Given the description of an element on the screen output the (x, y) to click on. 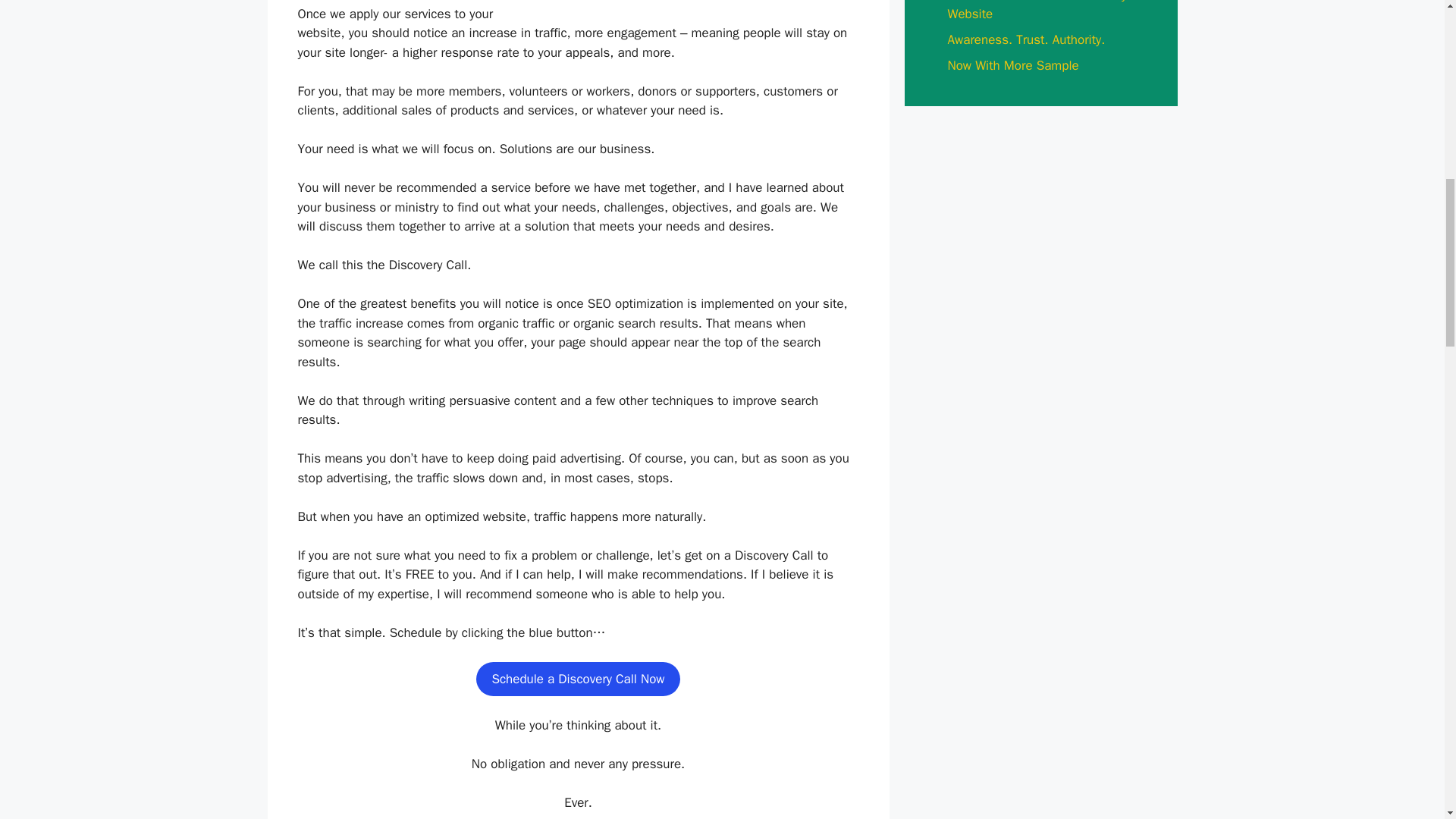
Scroll back to top (1406, 720)
Schedule a Discovery Call Now (577, 678)
Awareness. Trust. Authority. (1026, 39)
How Do I Get More Traffic to My Website (1036, 11)
Now With More Sample (1012, 65)
